Given the description of an element on the screen output the (x, y) to click on. 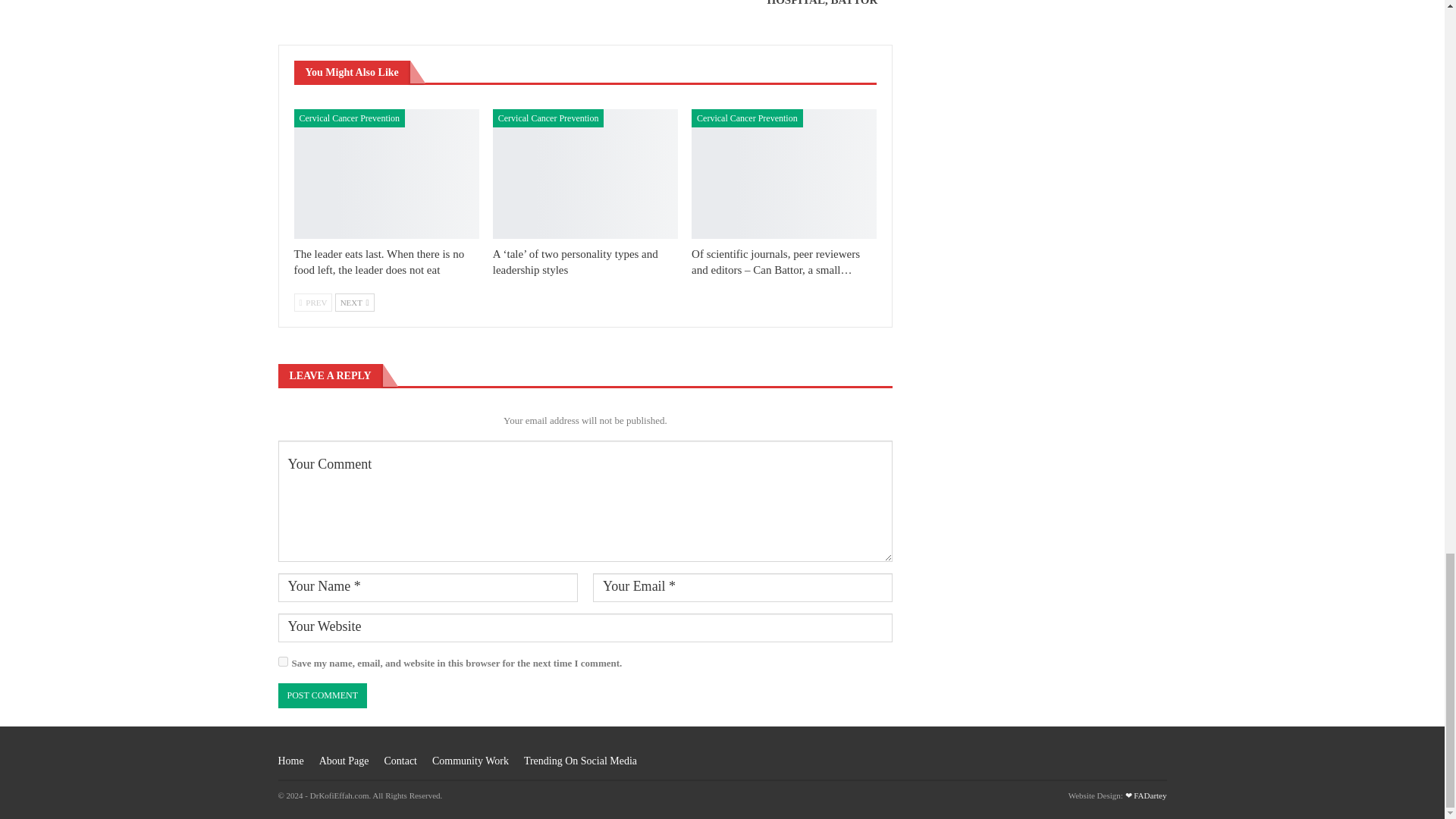
Post Comment (322, 695)
yes (282, 661)
